Given the description of an element on the screen output the (x, y) to click on. 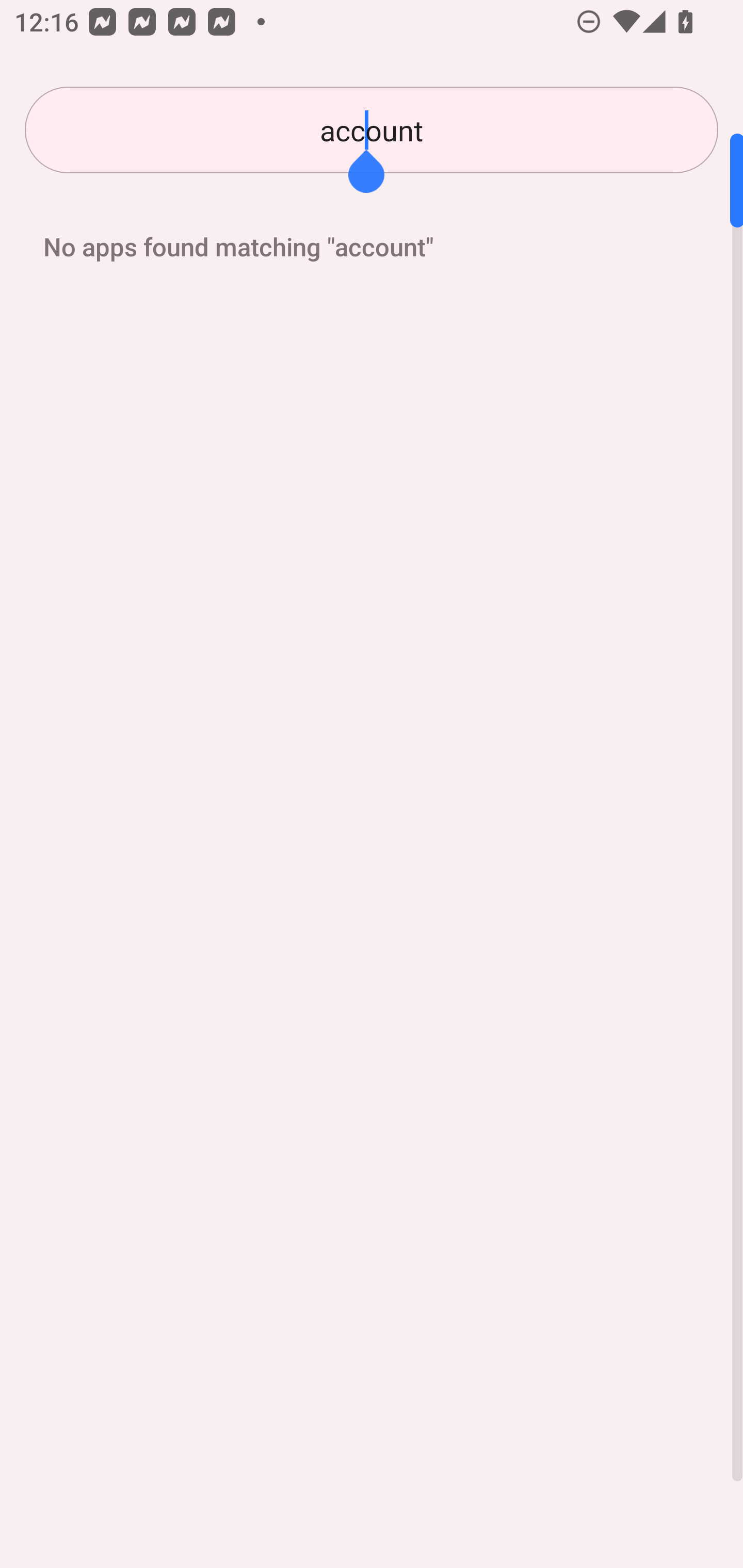
account (371, 130)
